Given the description of an element on the screen output the (x, y) to click on. 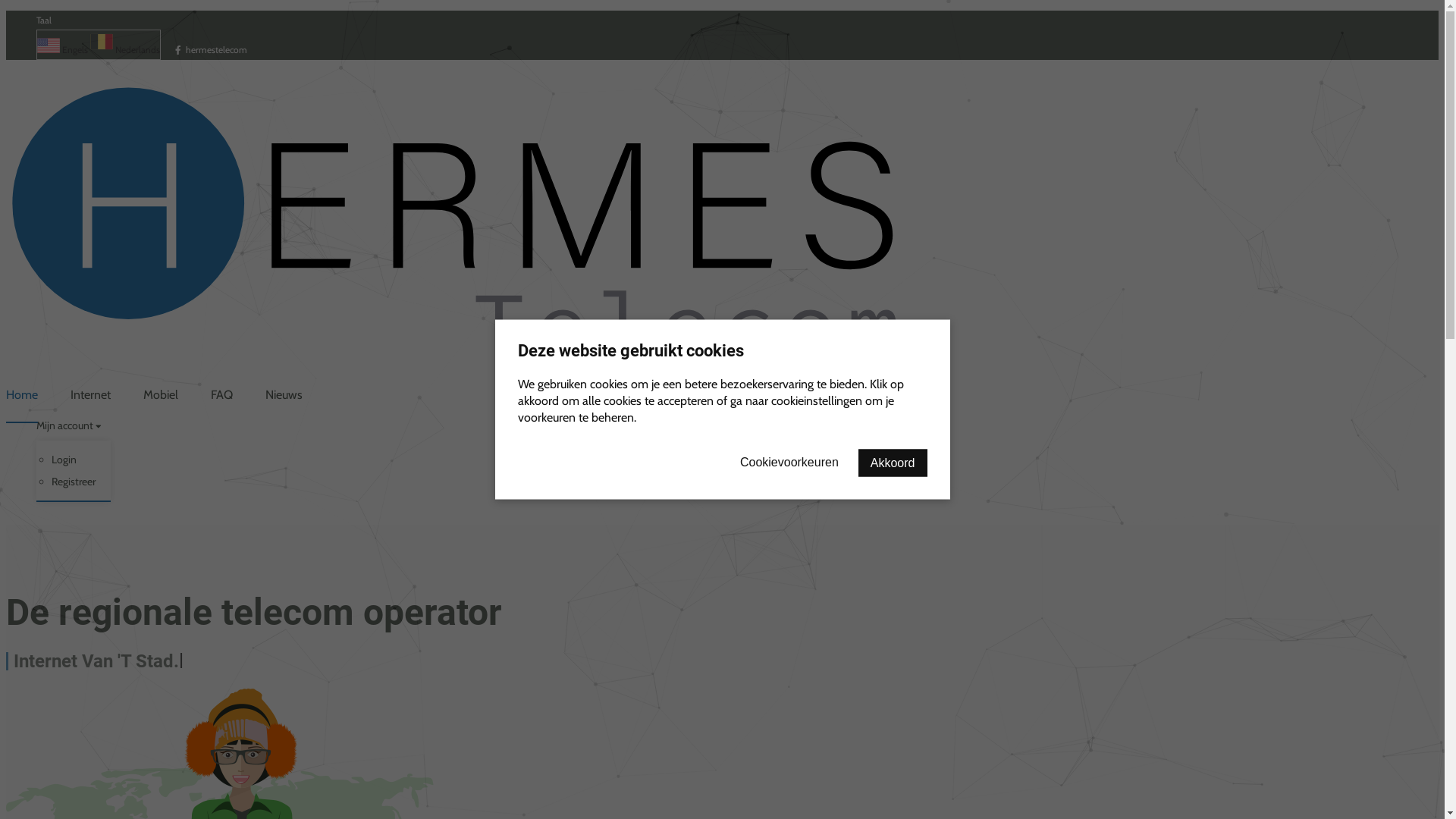
Nieuws Element type: text (283, 394)
Mijn account Element type: text (68, 425)
FAQ Element type: text (221, 394)
Taal Element type: text (43, 19)
Login Element type: text (73, 459)
Registreer Element type: text (73, 481)
Engels Element type: text (62, 49)
Home Element type: text (21, 394)
Mobiel Element type: text (160, 394)
Nederlands Element type: text (125, 49)
Akkoord Element type: text (892, 462)
Internet Element type: text (90, 394)
  hermestelecom Element type: text (211, 49)
Cookievoorkeuren Element type: text (789, 462)
